Given the description of an element on the screen output the (x, y) to click on. 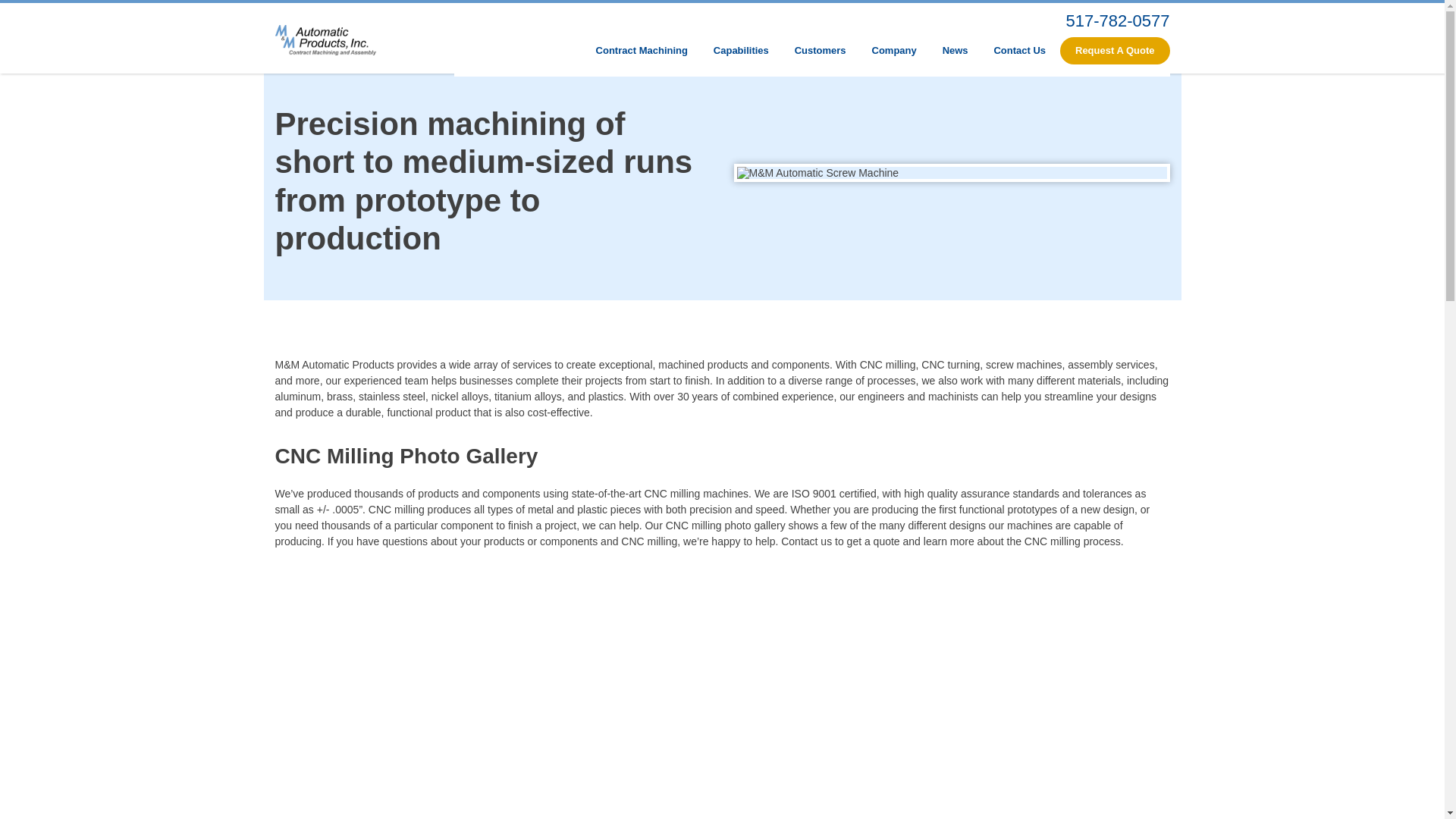
Contact Us (1019, 50)
Contract Machining (641, 50)
Request A Quote (1114, 50)
Company (893, 50)
Capabilities (740, 50)
News (955, 50)
Customers (820, 50)
517-782-0577 (1117, 20)
